Given the description of an element on the screen output the (x, y) to click on. 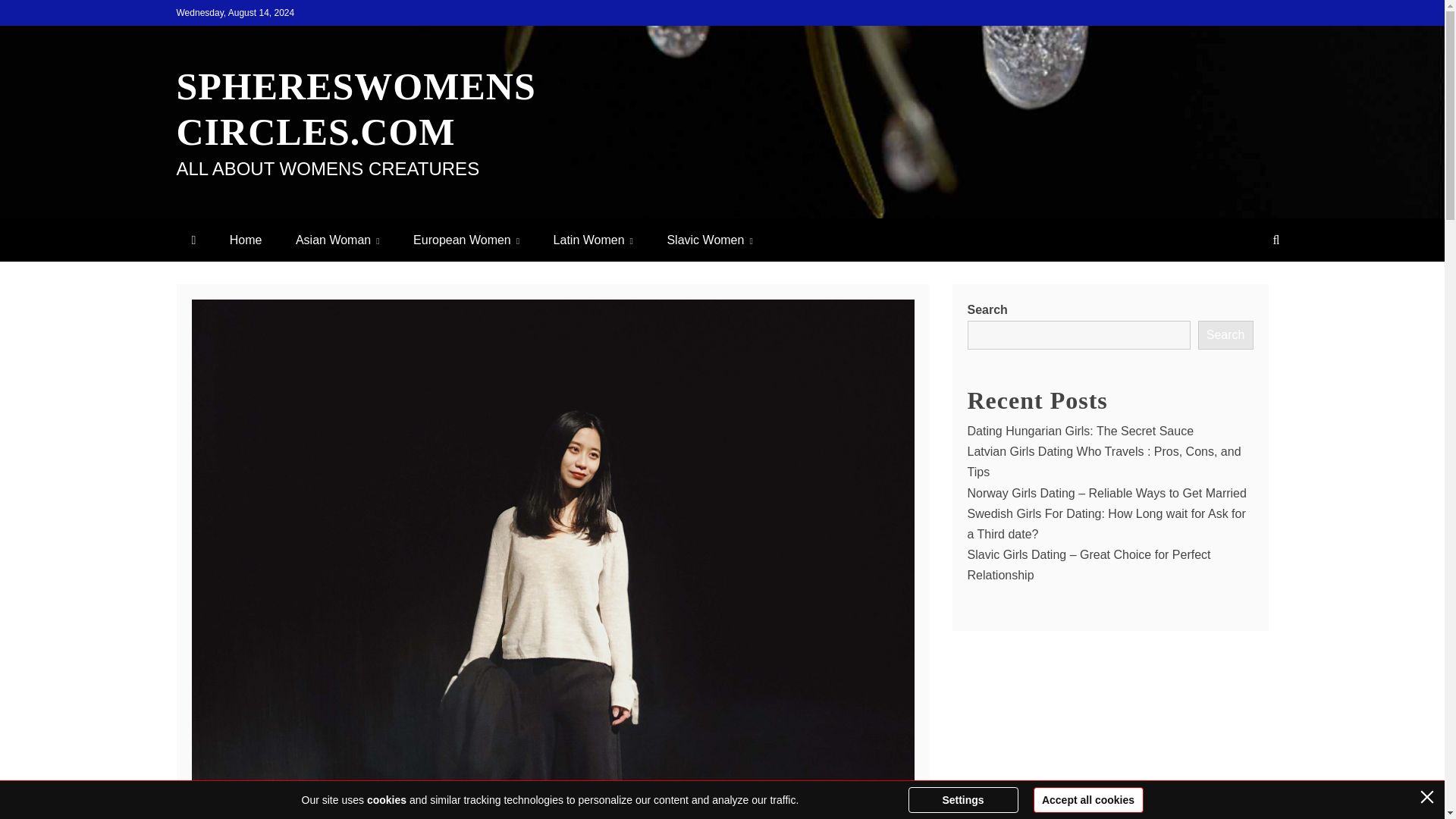
Slavic Women (708, 239)
Dating Hungarian Girls: The Secret Sauce (1080, 431)
Accept all cookies (1087, 800)
Asian Woman (337, 239)
Home (246, 239)
Latin Women (592, 239)
cookies (386, 799)
Settings (962, 800)
Search (1225, 335)
